Given the description of an element on the screen output the (x, y) to click on. 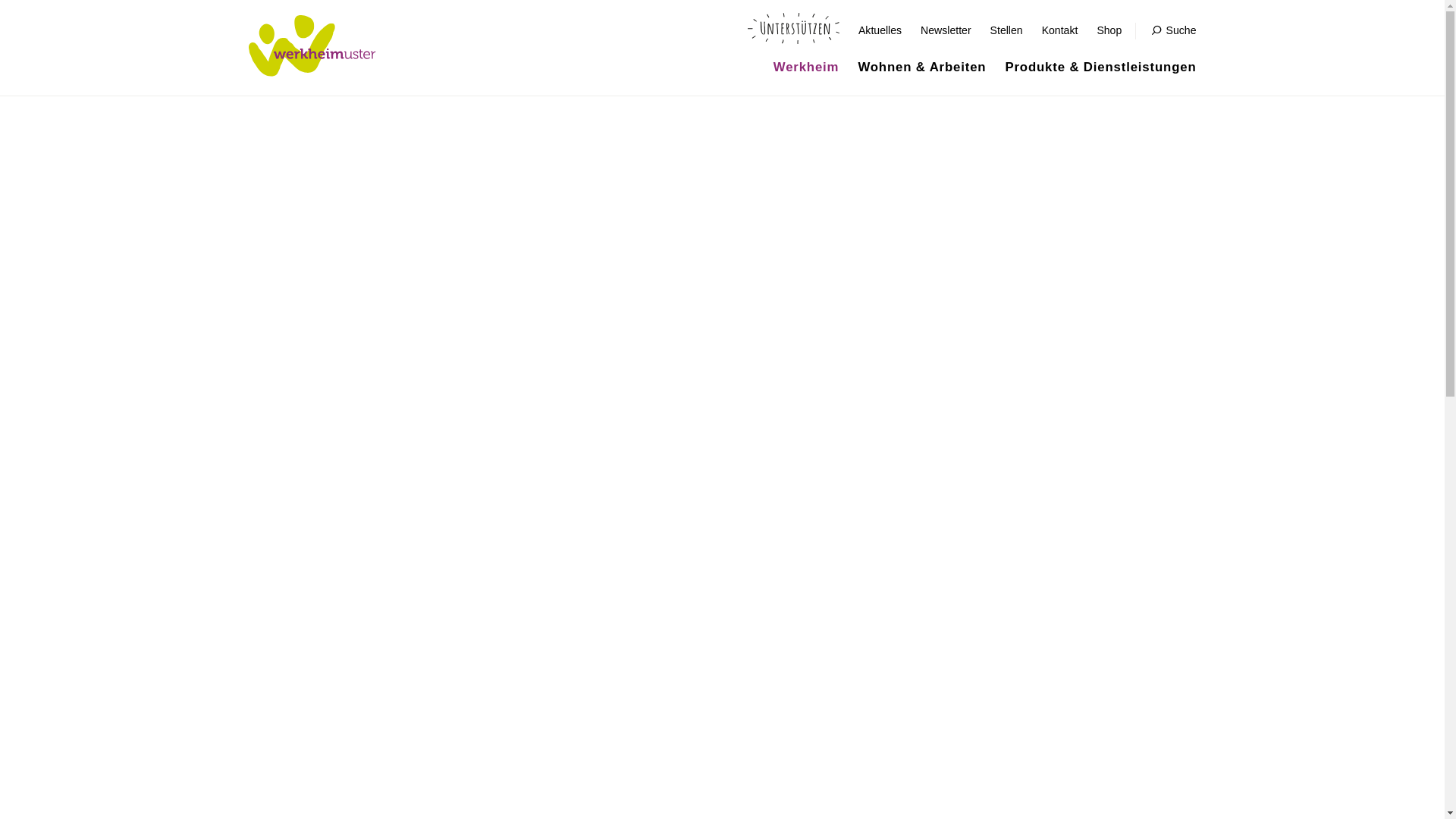
Kontakt Element type: text (1059, 30)
Produkte & Dienstleistungen Element type: text (1099, 66)
Wohnen & Arbeiten Element type: text (921, 66)
Shop Element type: text (1108, 30)
Werkheim Uster Element type: text (312, 45)
Suche Element type: text (1173, 30)
Newsletter Element type: text (945, 30)
Werkheim Element type: text (806, 66)
Aktuelles Element type: text (879, 30)
Stellen Element type: text (1006, 30)
